Given the description of an element on the screen output the (x, y) to click on. 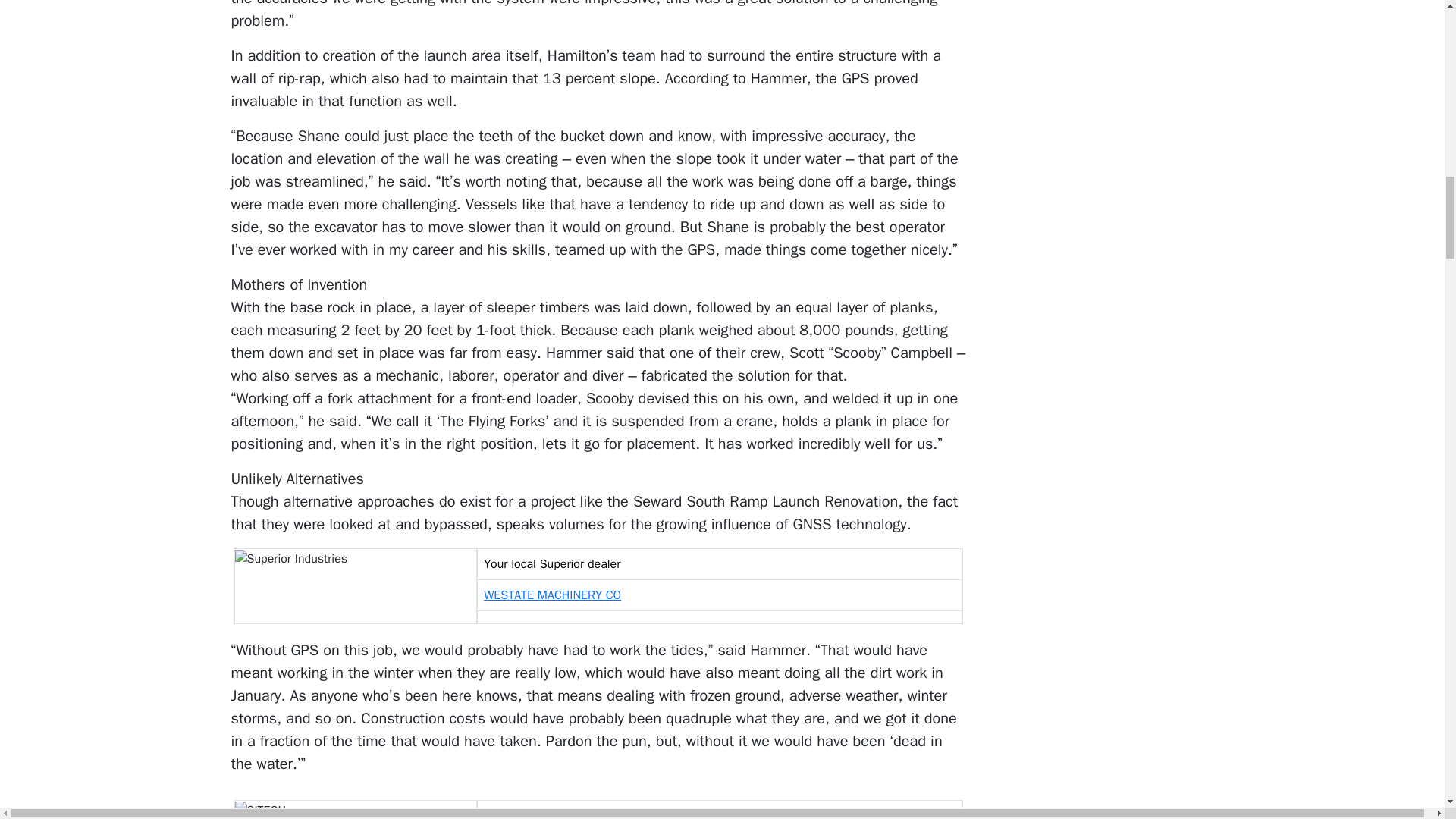
WESTATE MACHINERY CO (552, 595)
